Given the description of an element on the screen output the (x, y) to click on. 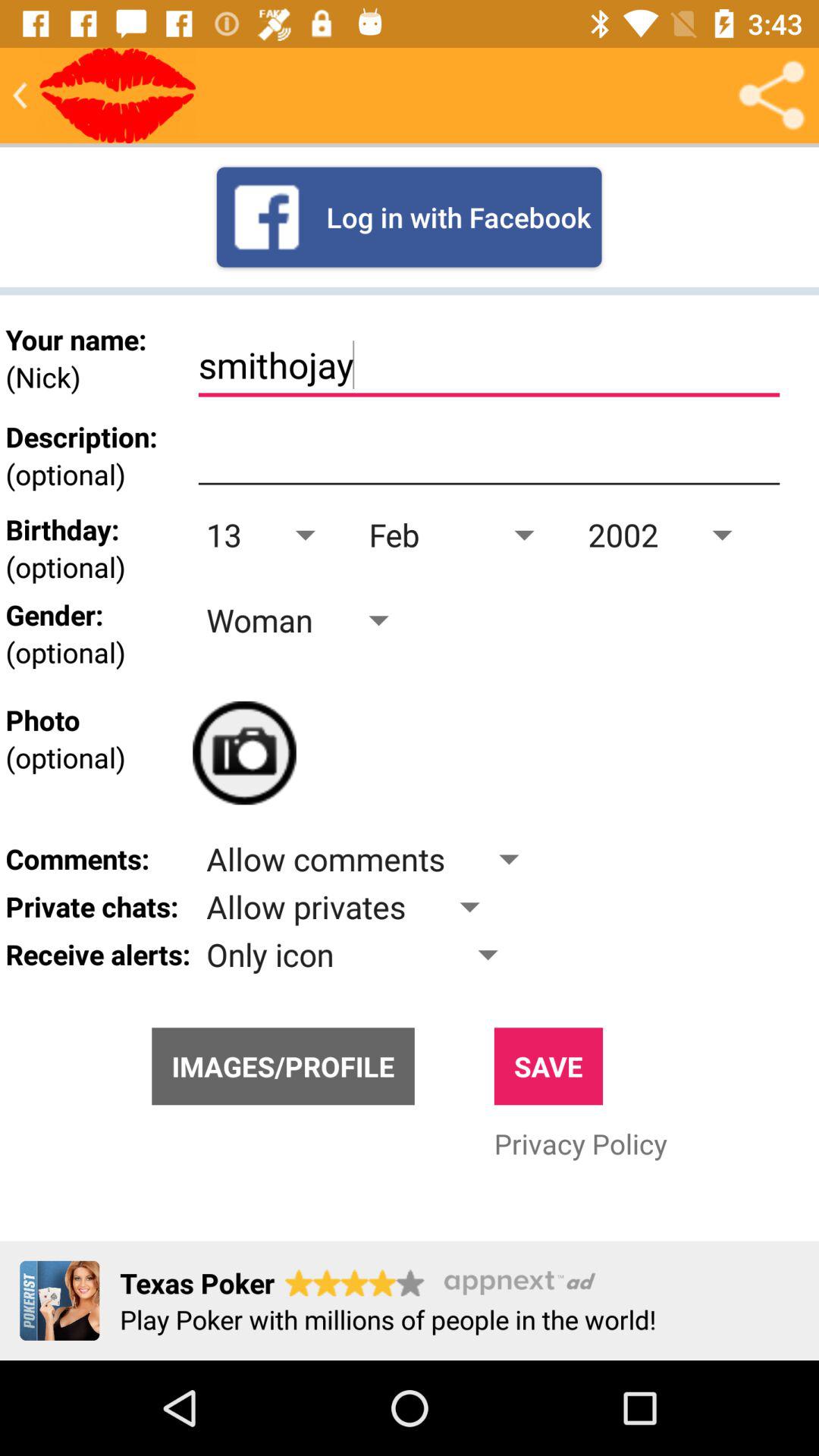
share the article (771, 95)
